Given the description of an element on the screen output the (x, y) to click on. 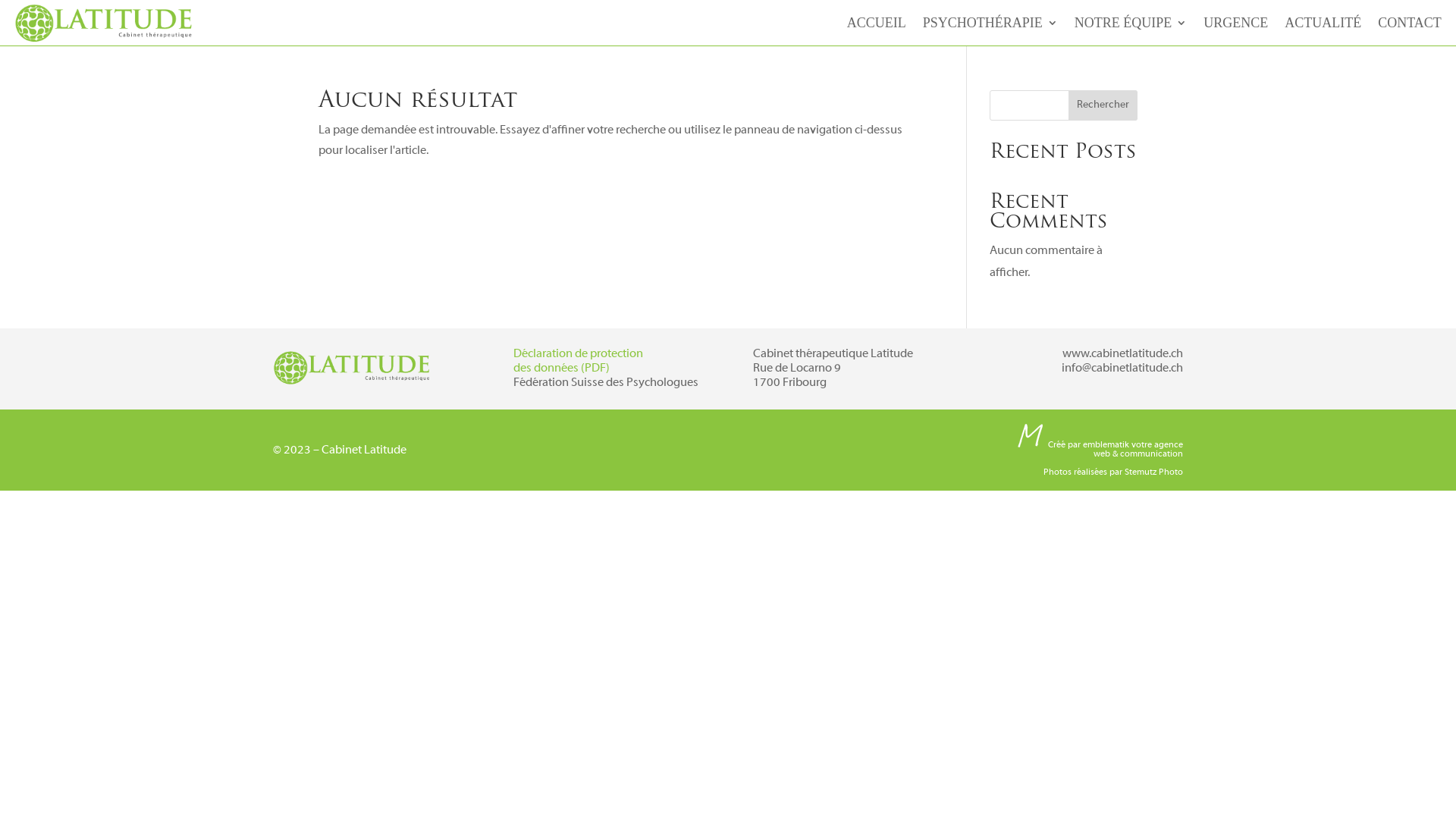
Rechercher Element type: text (1102, 105)
logo (3) Element type: hover (352, 367)
ACCUEIL Element type: text (876, 25)
CONTACT Element type: text (1409, 25)
logo (3) Element type: hover (104, 22)
URGENCE Element type: text (1235, 25)
